Given the description of an element on the screen output the (x, y) to click on. 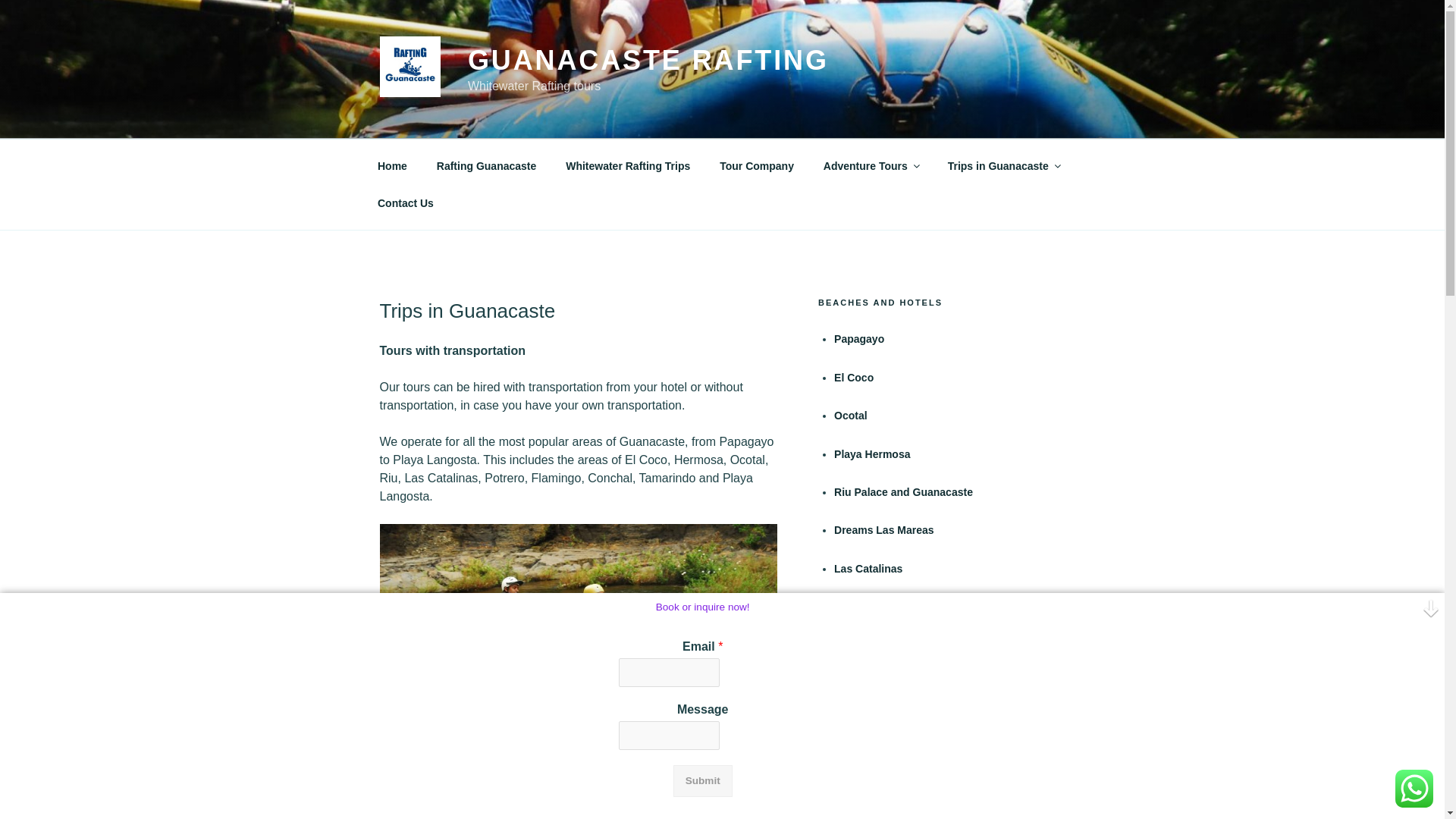
Dreams Las Mareas (884, 530)
Papagayo (858, 338)
Tour Company (757, 165)
Trips in Guanacaste (1002, 165)
Adventure Tours (870, 165)
Home (392, 165)
Riu Palace and Guanacaste (903, 491)
Ocotal (850, 415)
Contact Us (405, 203)
GUANACASTE RAFTING (647, 60)
El Coco (853, 377)
Whitewater Rafting Trips (628, 165)
Rafting Guanacaste (485, 165)
Playa Hermosa (872, 453)
